Given the description of an element on the screen output the (x, y) to click on. 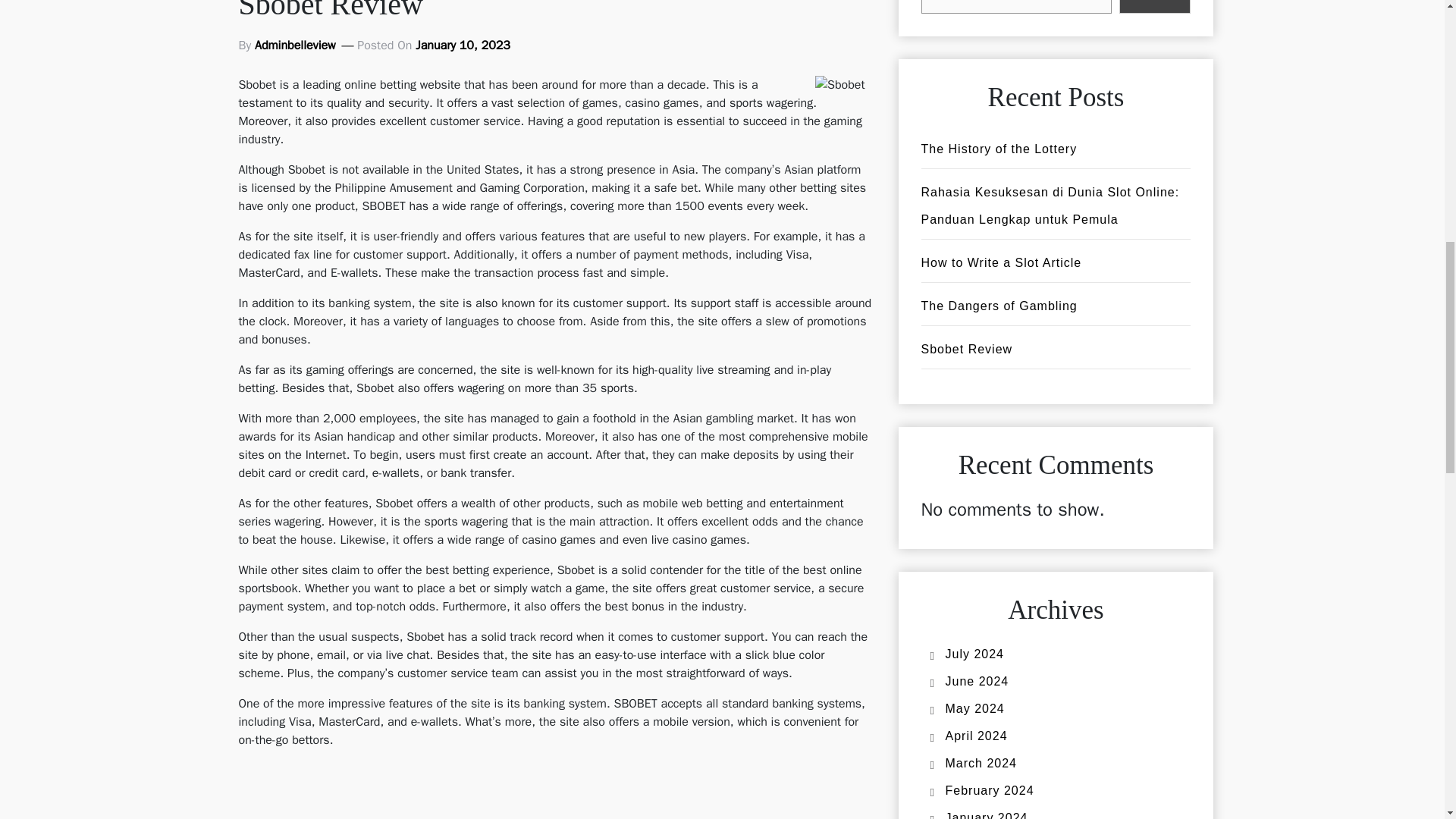
June 2024 (976, 680)
March 2024 (980, 762)
The Dangers of Gambling (998, 305)
Sbobet Review (965, 349)
Search (1155, 6)
April 2024 (975, 735)
May 2024 (974, 707)
How to Write a Slot Article (1000, 262)
The History of the Lottery (998, 148)
July 2024 (974, 653)
January 2024 (985, 815)
Adminbelleview (295, 45)
February 2024 (988, 789)
